Given the description of an element on the screen output the (x, y) to click on. 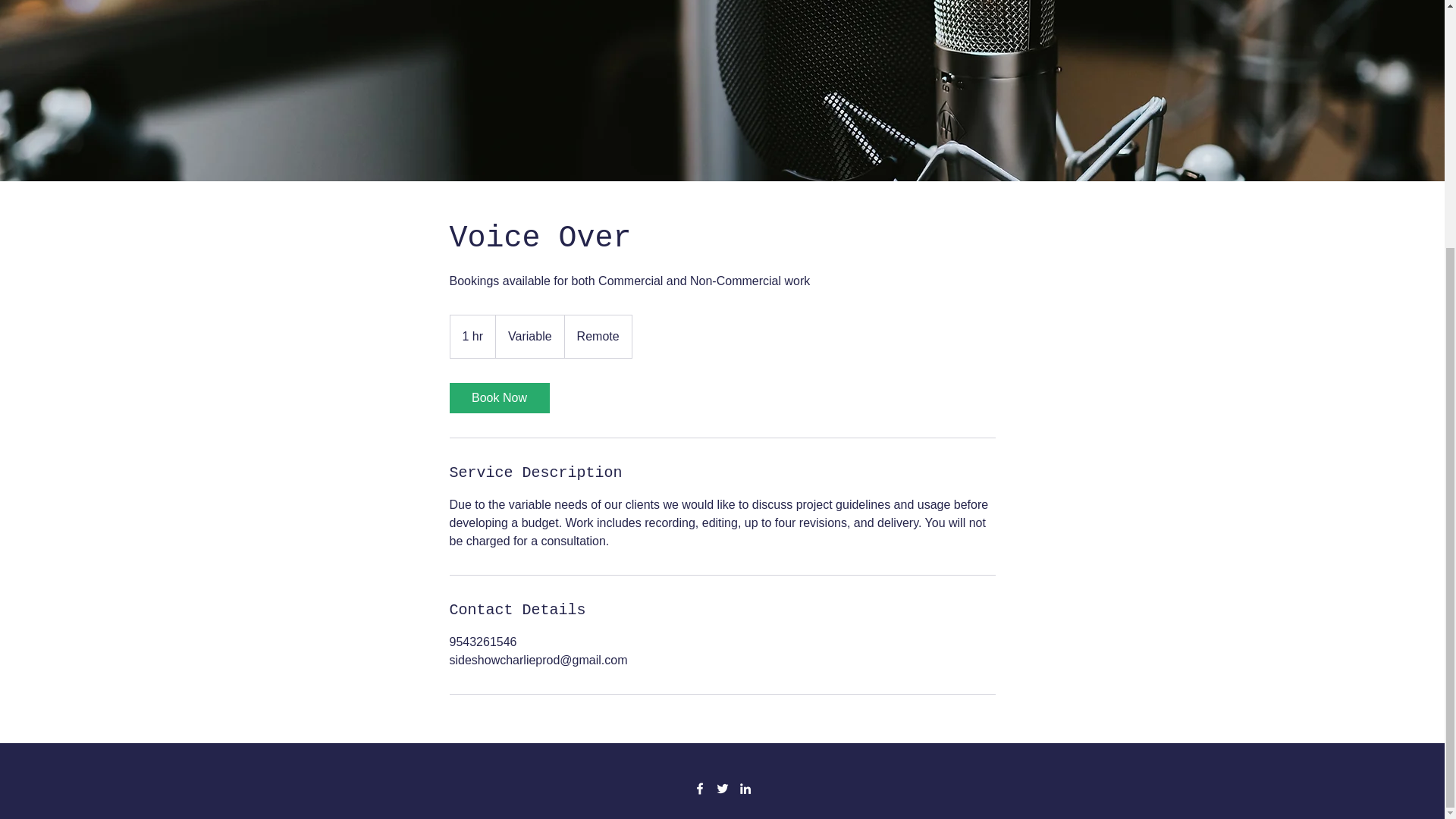
Book Now (498, 398)
